Given the description of an element on the screen output the (x, y) to click on. 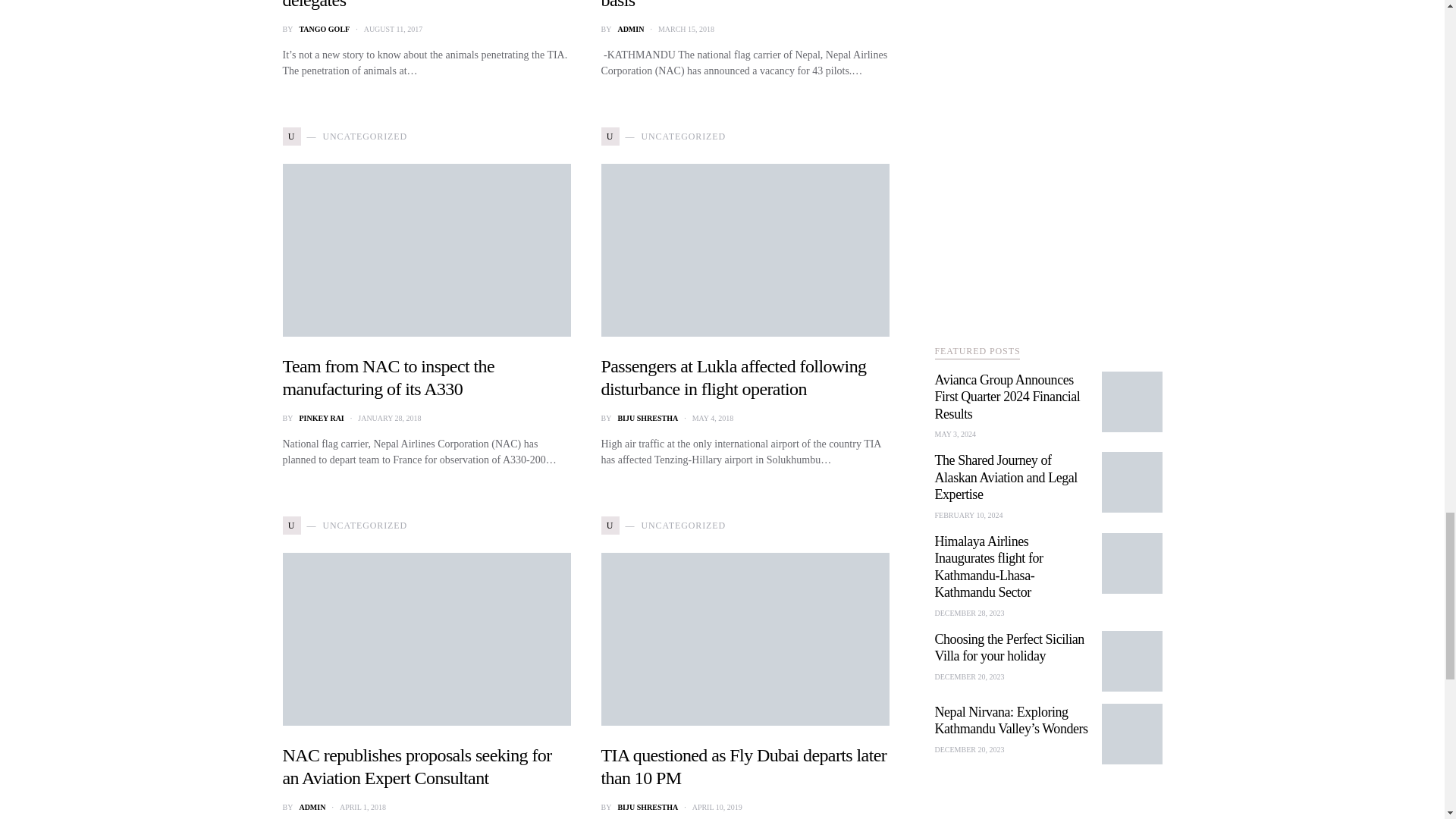
View all posts by Biju Shrestha (647, 807)
View all posts by Tango Golf (323, 29)
View all posts by Admin (311, 807)
View all posts by Biju Shrestha (647, 418)
View all posts by Pinkey Rai (320, 418)
View all posts by Admin (630, 29)
